Given the description of an element on the screen output the (x, y) to click on. 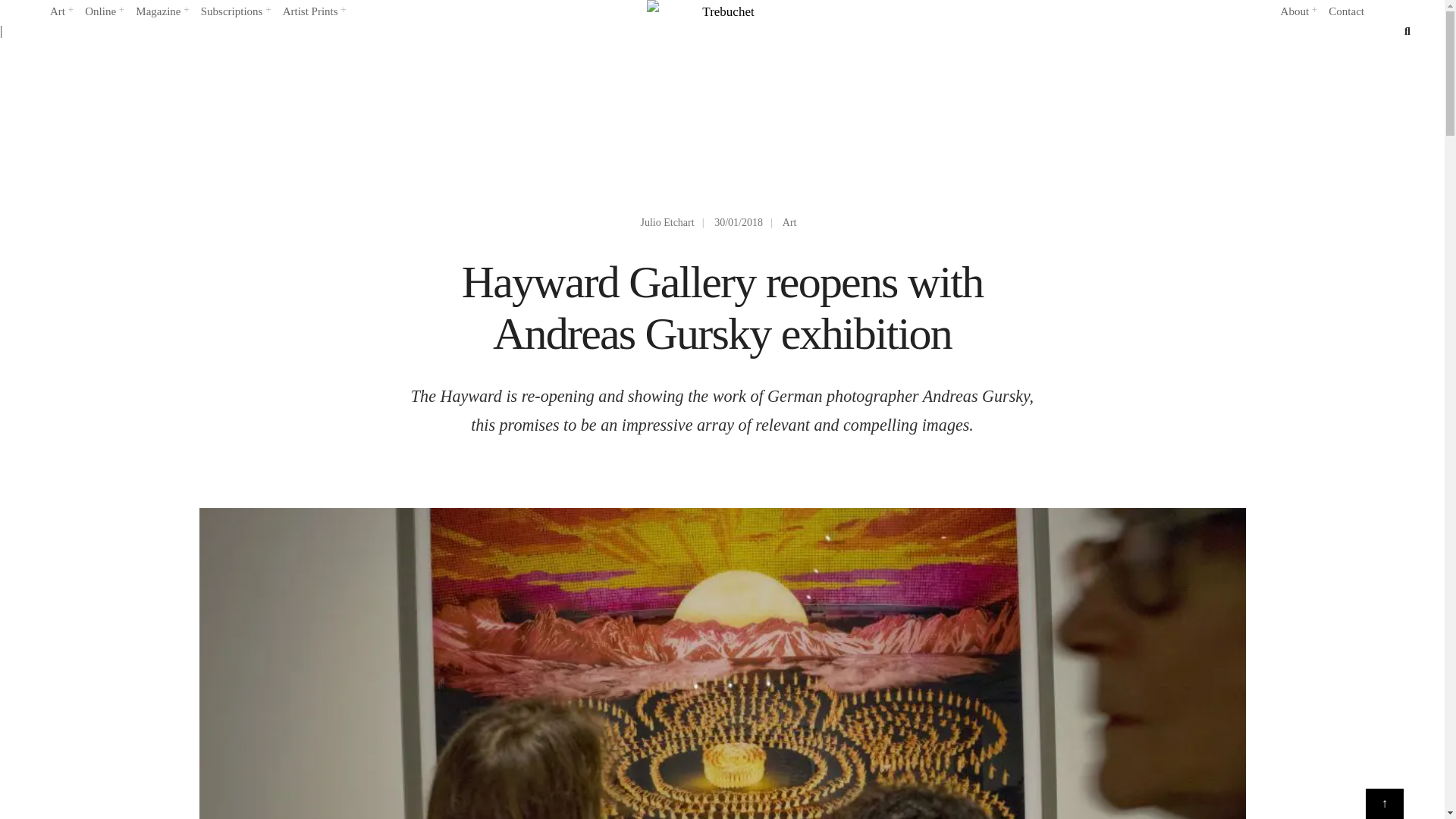
Subscriptions (235, 11)
Art (61, 11)
Online (104, 11)
Artist Prints (314, 11)
Magazine (161, 11)
Art (61, 11)
Posts by Julio Etchart (667, 222)
